Given the description of an element on the screen output the (x, y) to click on. 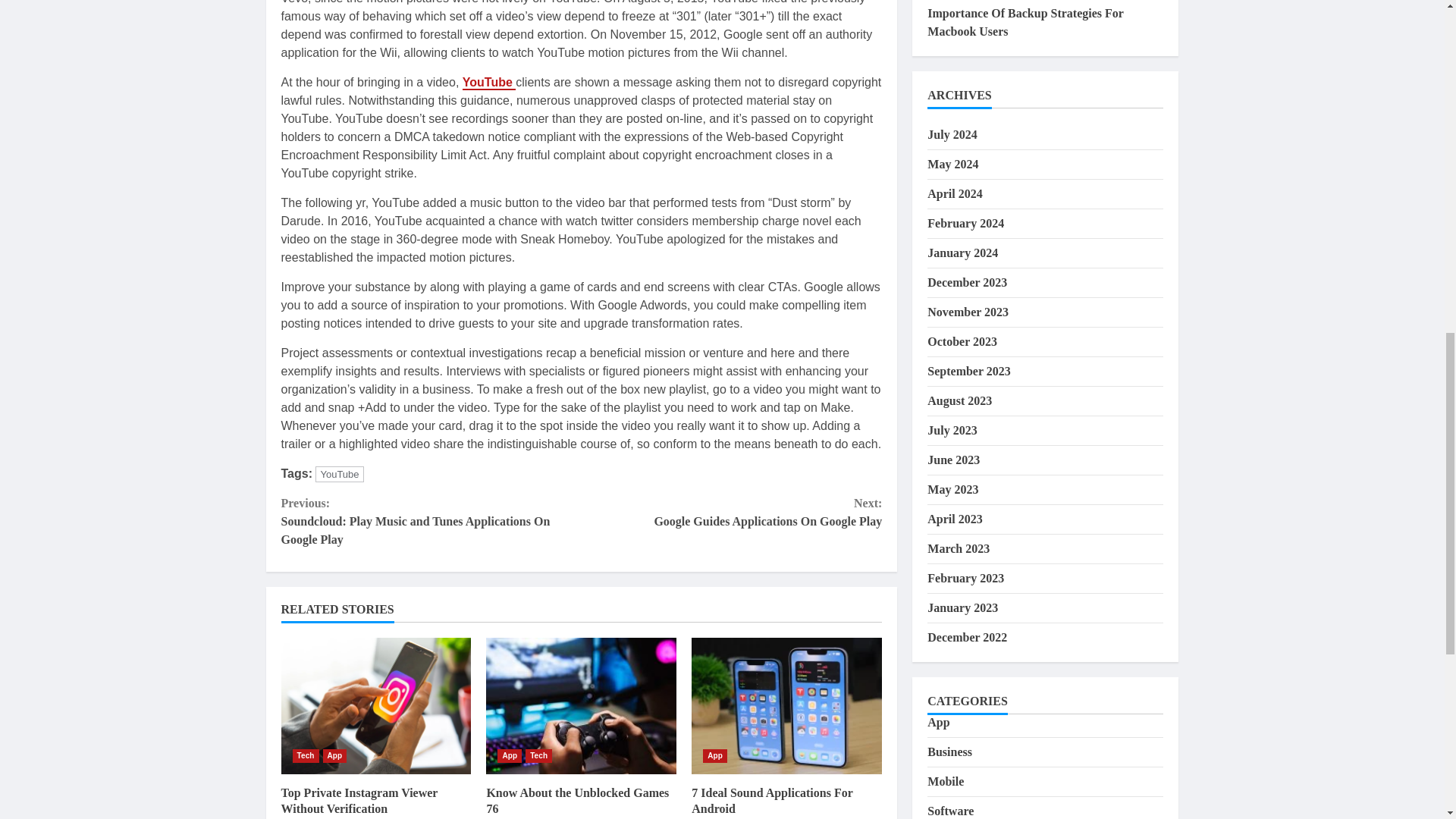
YouTube (731, 512)
App (489, 83)
App (509, 755)
7 Ideal Sound Applications For Android (714, 755)
7 Ideal Sound Applications For Android (771, 800)
Tech (786, 705)
App (305, 755)
Know About the Unblocked Games 76 (335, 755)
YouTube (577, 800)
Top Private Instagram Viewer Without Verification (338, 474)
Know About the Unblocked Games 76 (359, 800)
Top Private Instagram Viewer Without Verification (581, 705)
Tech (375, 705)
